Given the description of an element on the screen output the (x, y) to click on. 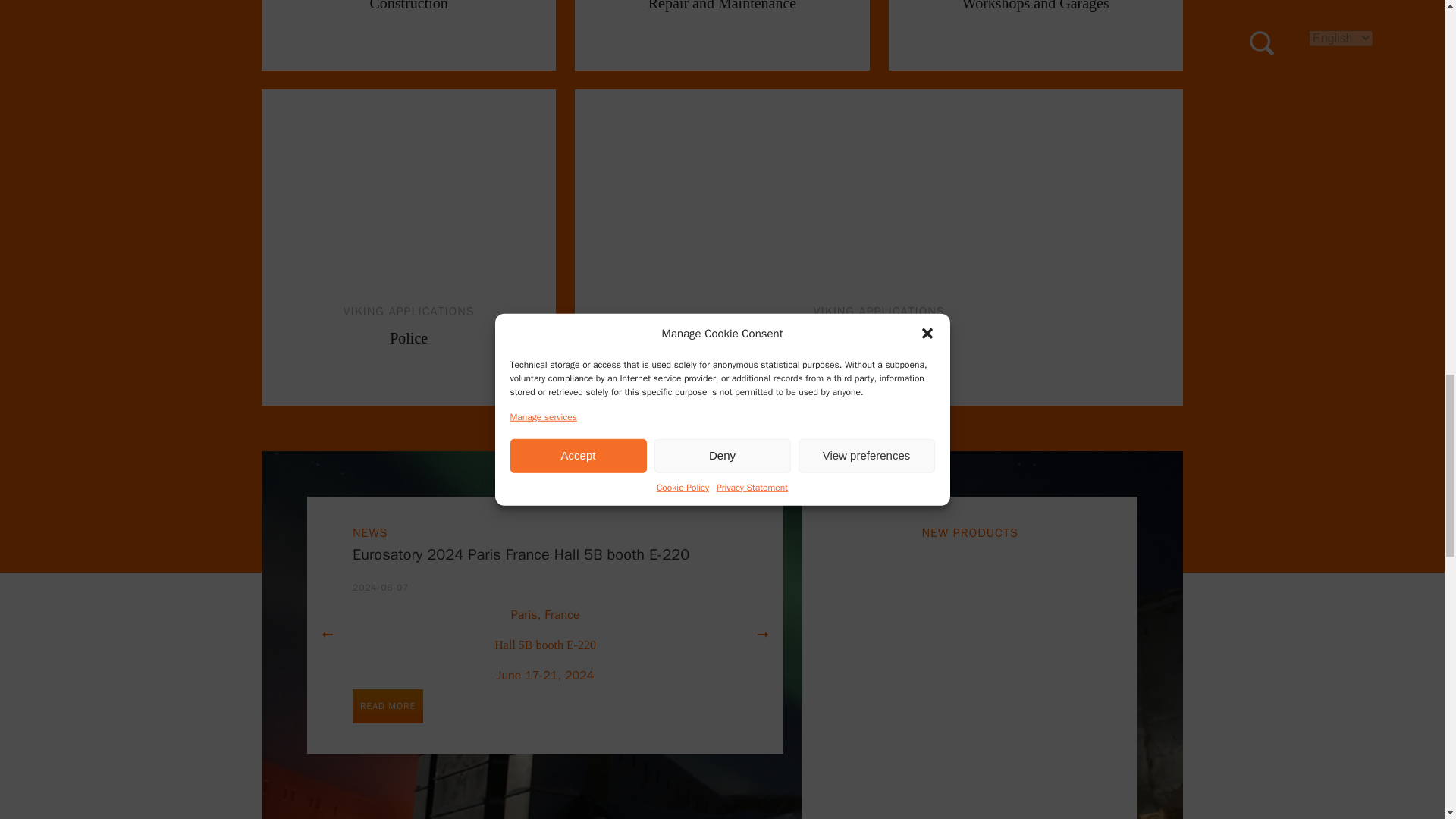
READ MORE (409, 247)
